Given the description of an element on the screen output the (x, y) to click on. 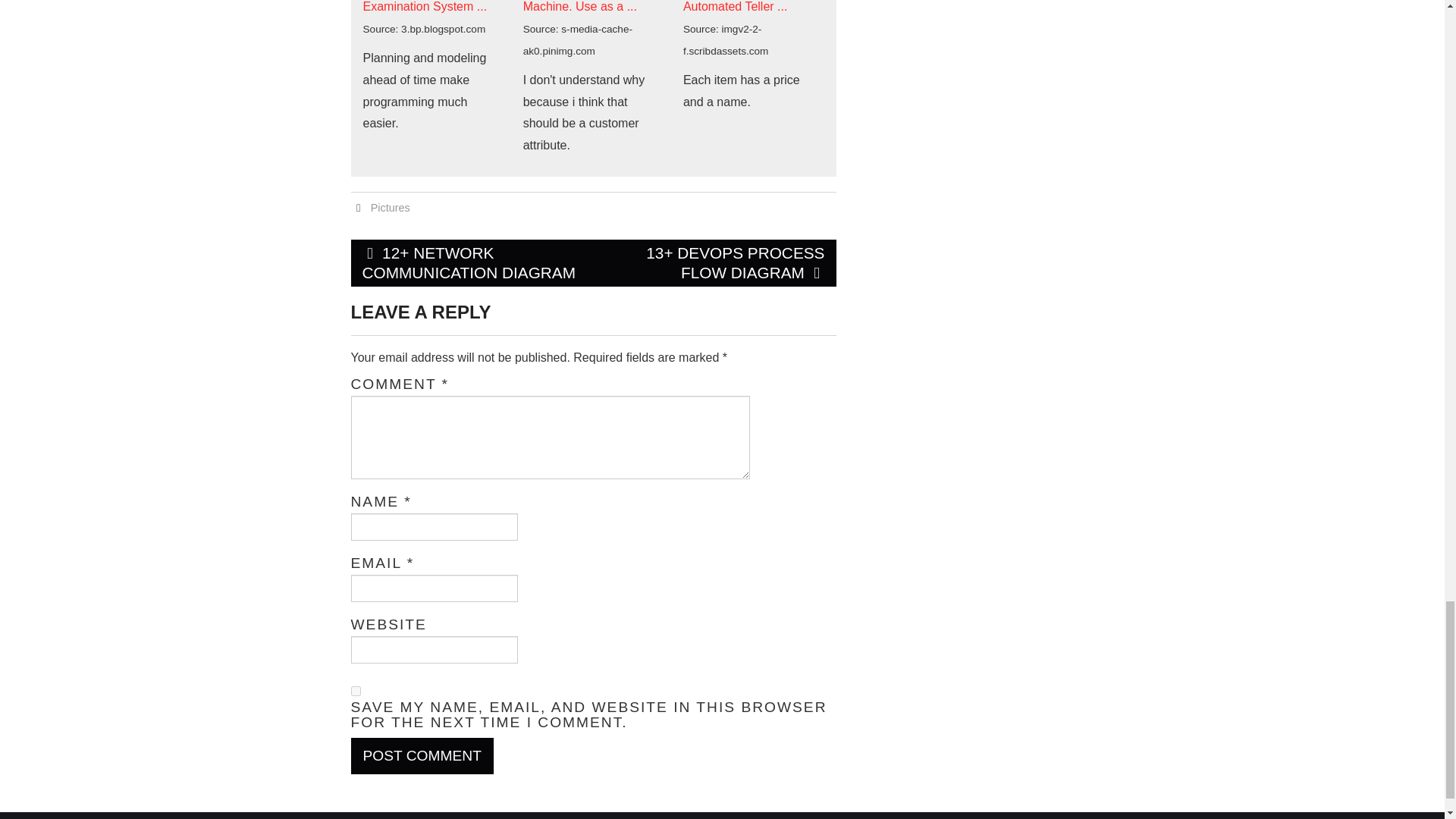
yes (354, 691)
Post Comment (421, 755)
Post Comment (421, 755)
Pictures (390, 207)
